Given the description of an element on the screen output the (x, y) to click on. 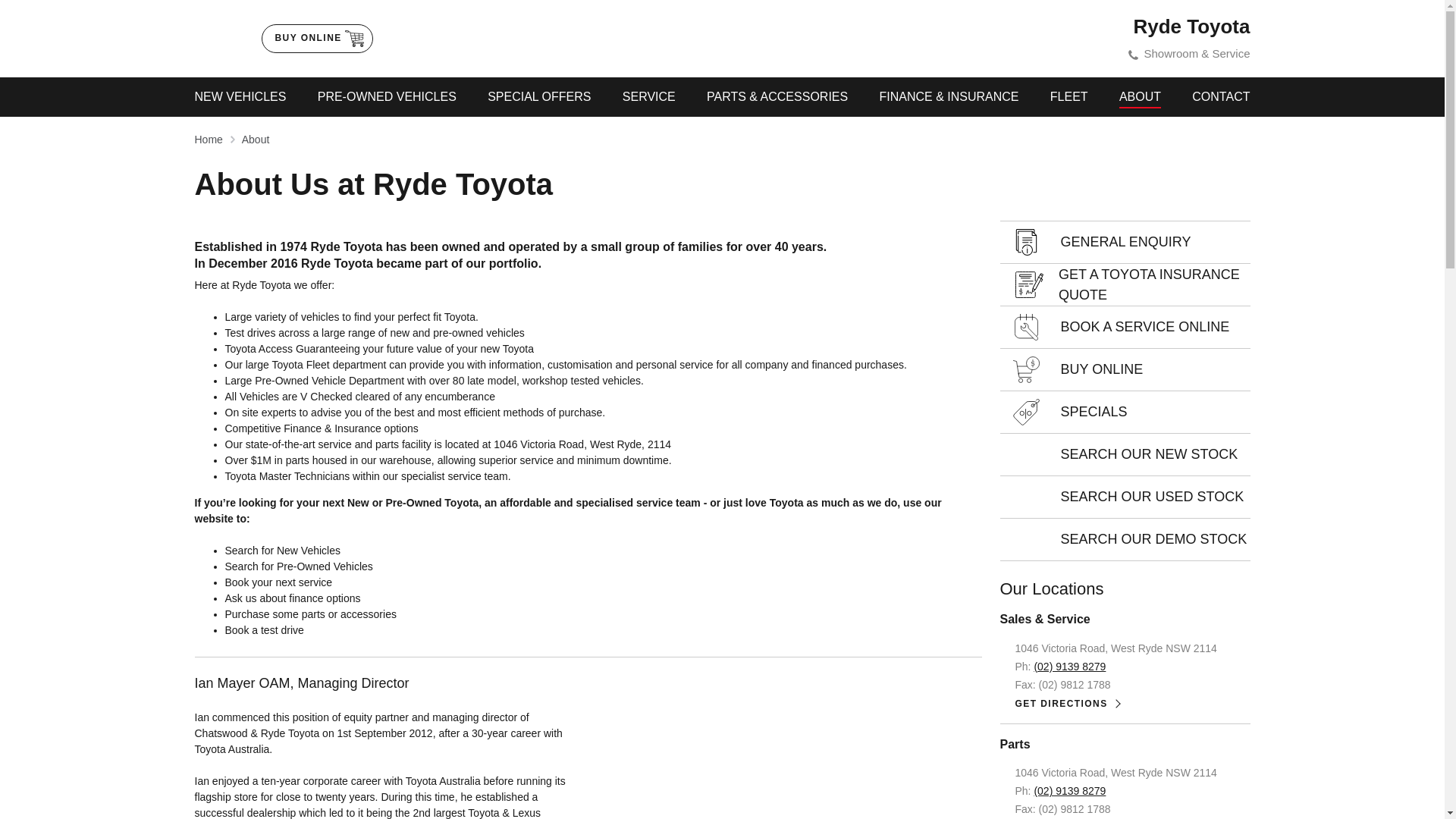
Call Us (1069, 790)
Call Us (1069, 666)
New Vehicles (239, 96)
Fleet (1069, 96)
NEW VEHICLES (239, 96)
About (1139, 96)
BUY ONLINE (316, 38)
Pre-Owned Vehicles (386, 96)
Special Offers (539, 96)
Service (648, 96)
